Given the description of an element on the screen output the (x, y) to click on. 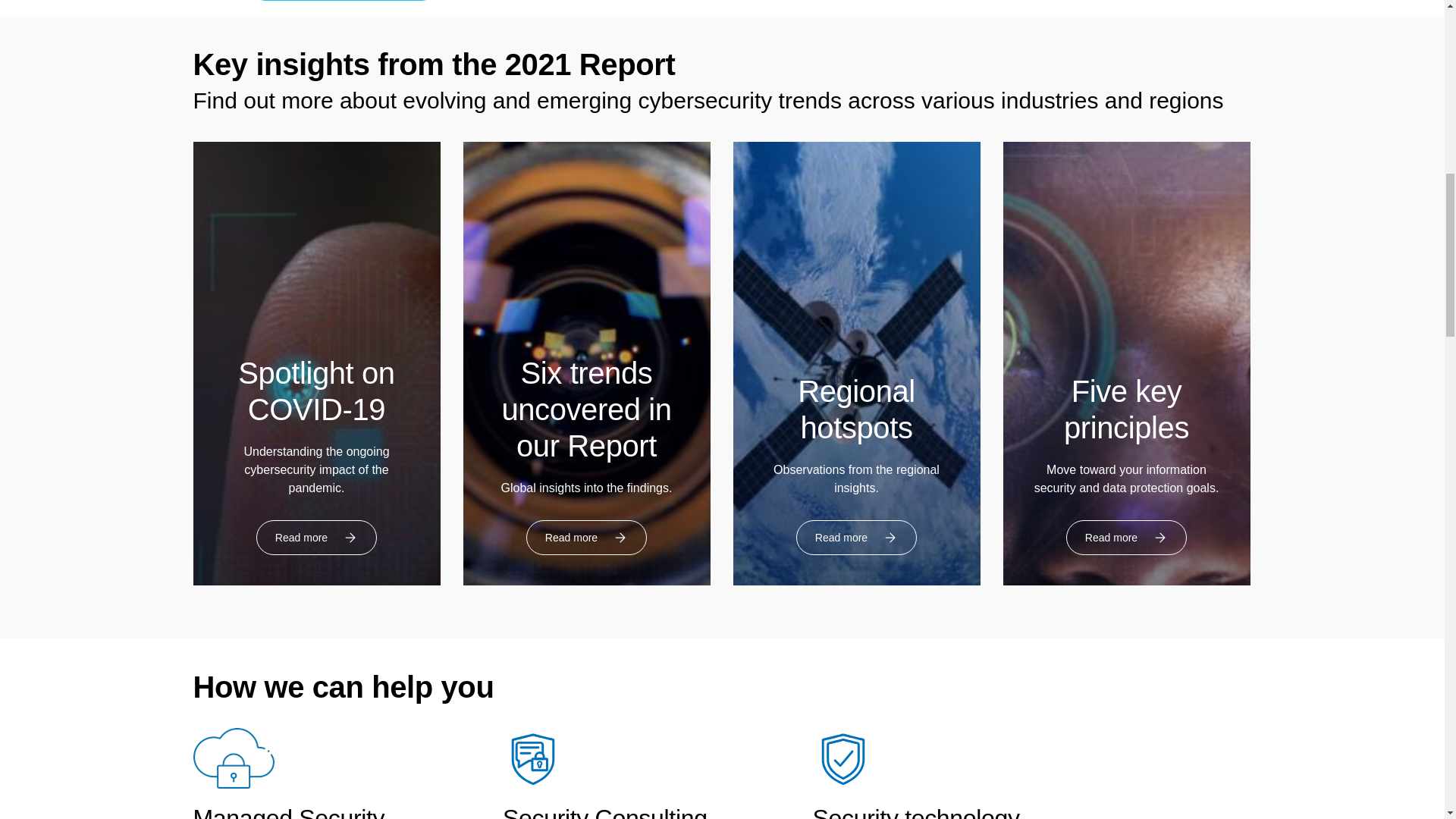
Read more (1125, 537)
Read more (585, 537)
Read more (316, 537)
Read more (856, 537)
